Given the description of an element on the screen output the (x, y) to click on. 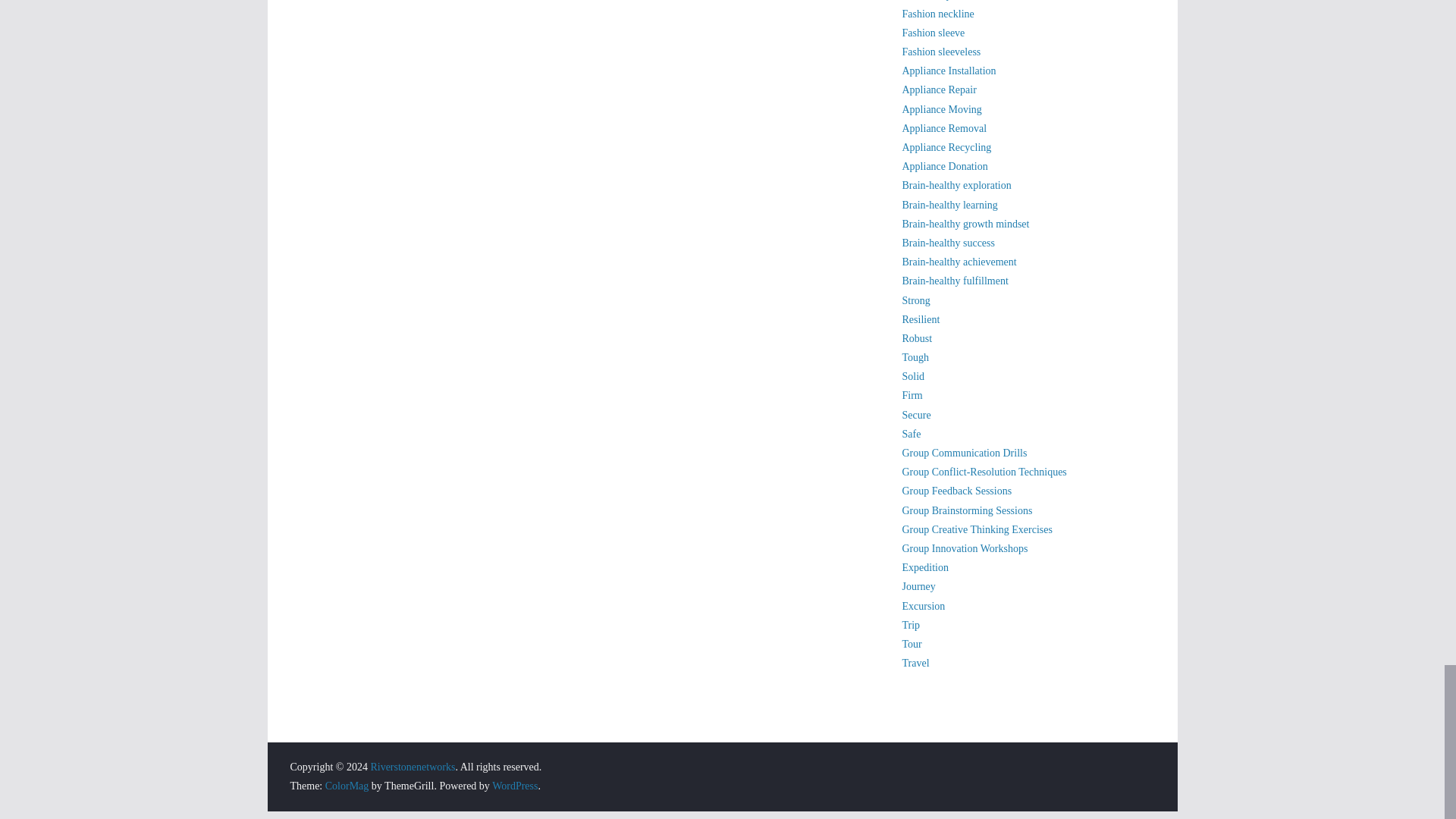
Riverstonenetworks (411, 767)
WordPress (514, 785)
ColorMag (346, 785)
